Given the description of an element on the screen output the (x, y) to click on. 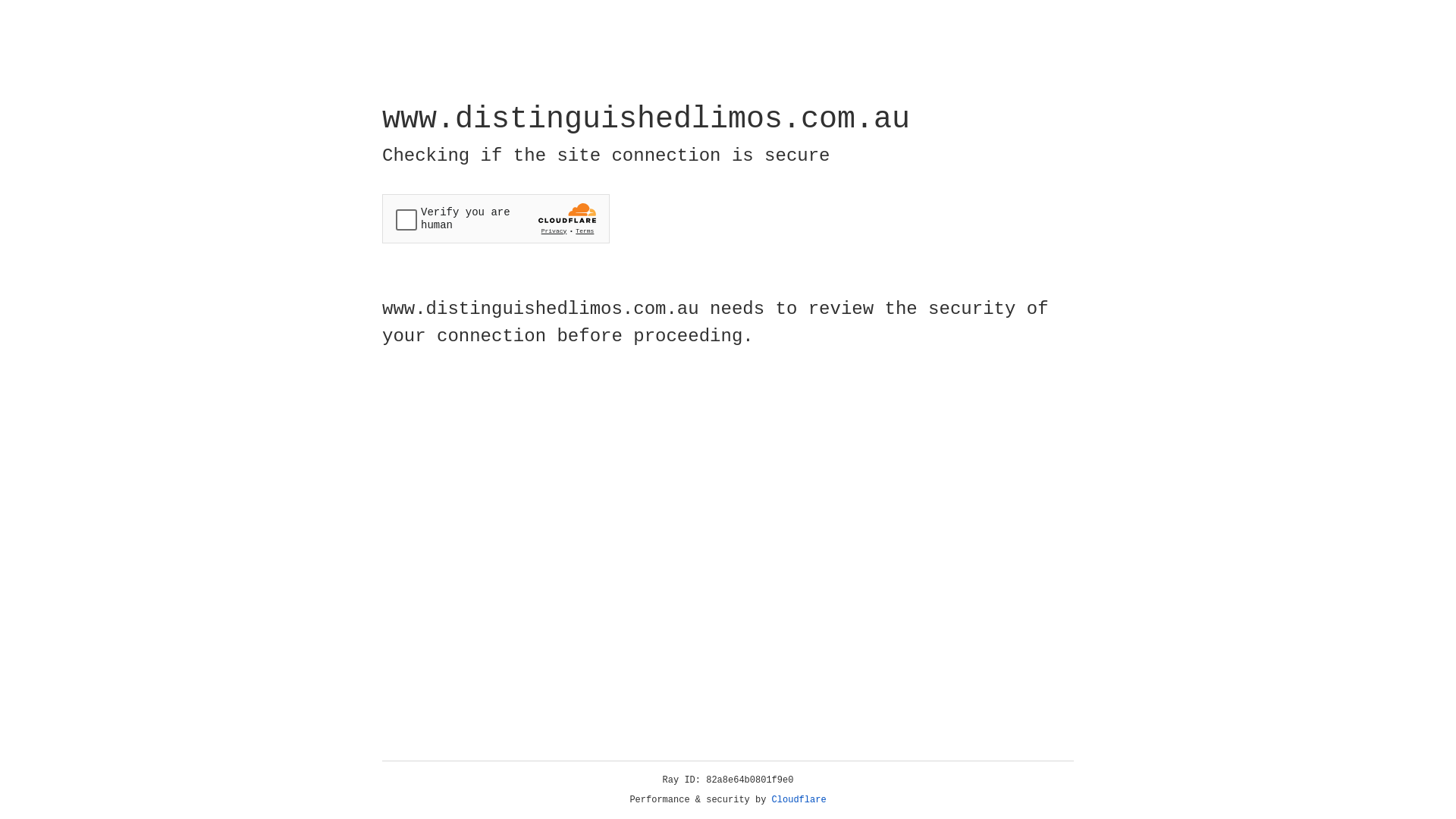
Cloudflare Element type: text (798, 799)
Widget containing a Cloudflare security challenge Element type: hover (495, 218)
